Given the description of an element on the screen output the (x, y) to click on. 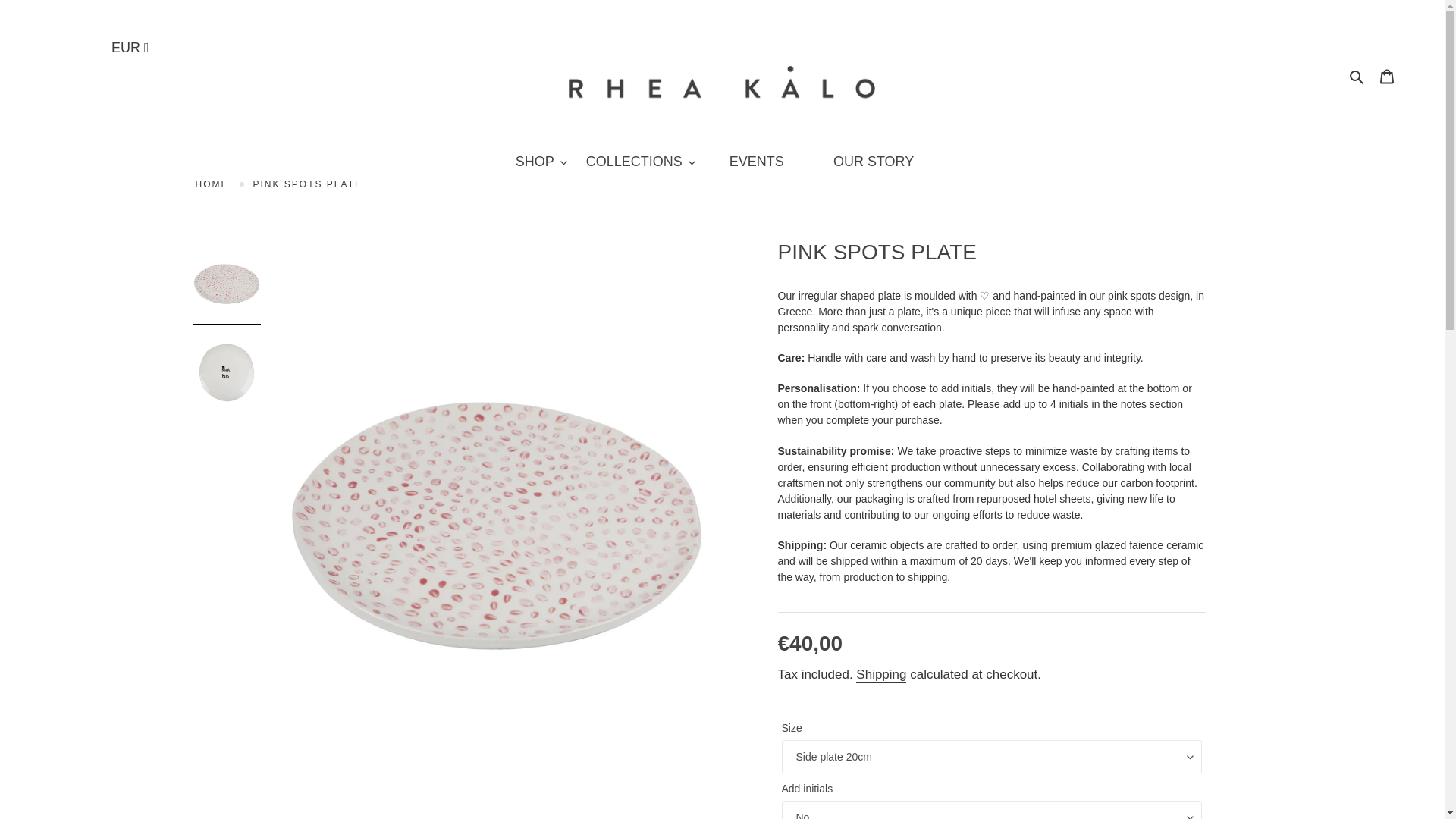
Search (1357, 75)
SHOP (541, 162)
Cart (1387, 75)
